Given the description of an element on the screen output the (x, y) to click on. 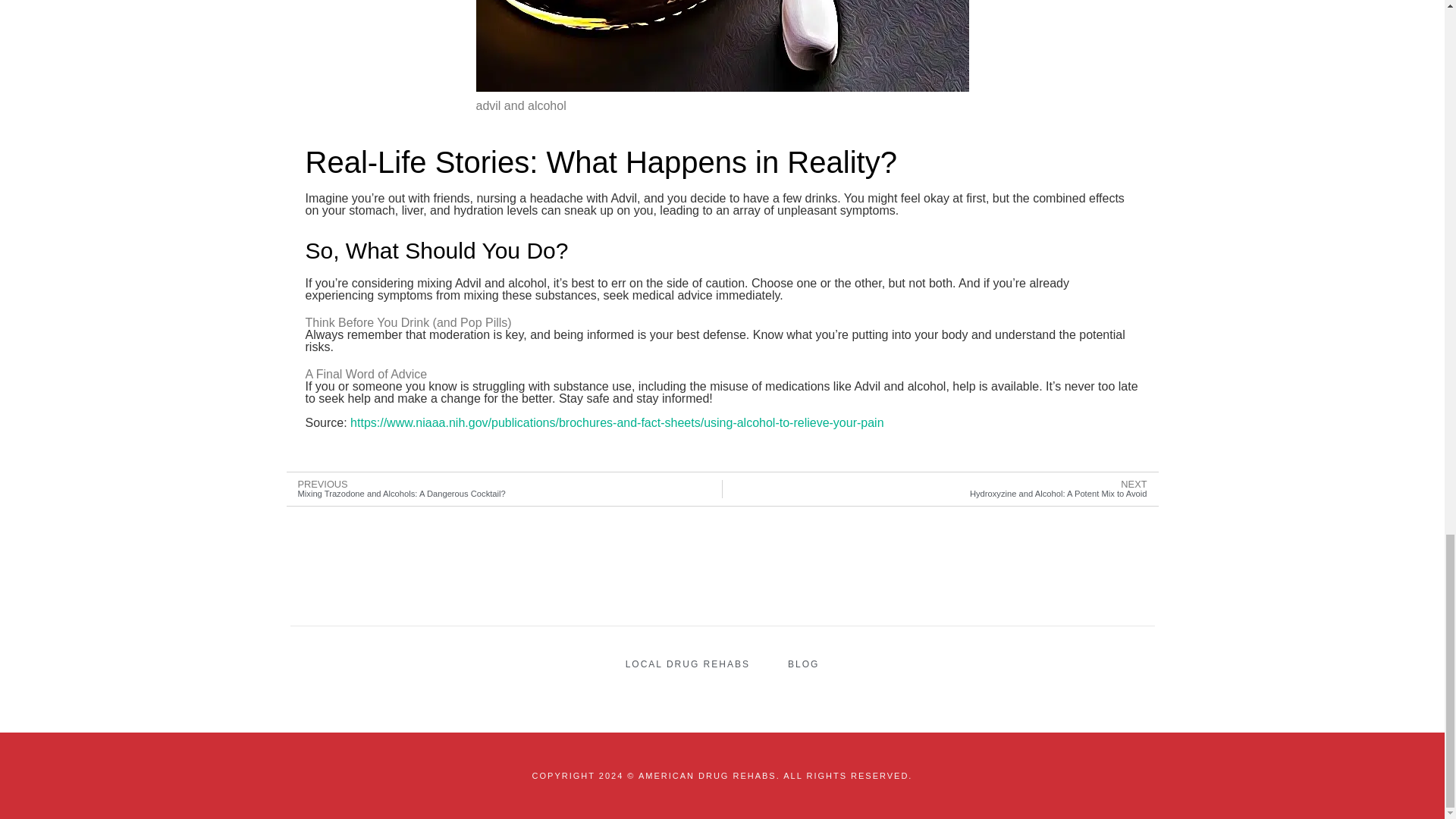
BLOG (1063, 488)
LOCAL DRUG REHABS (803, 663)
